Given the description of an element on the screen output the (x, y) to click on. 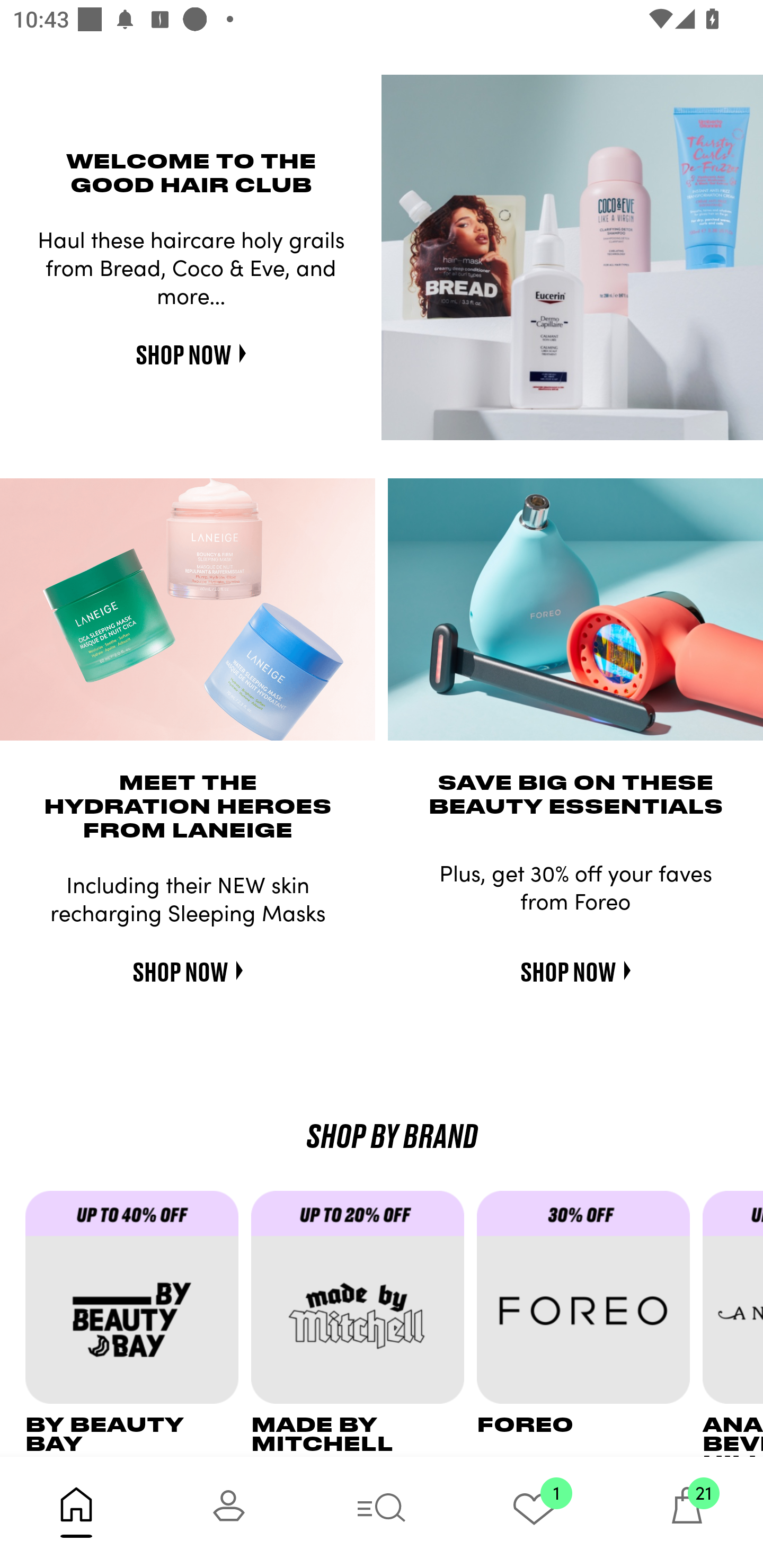
BY BEAUTY BAY (138, 1323)
MADE BY MITCHELL (363, 1323)
FOREO (589, 1323)
1 (533, 1512)
21 (686, 1512)
